Given the description of an element on the screen output the (x, y) to click on. 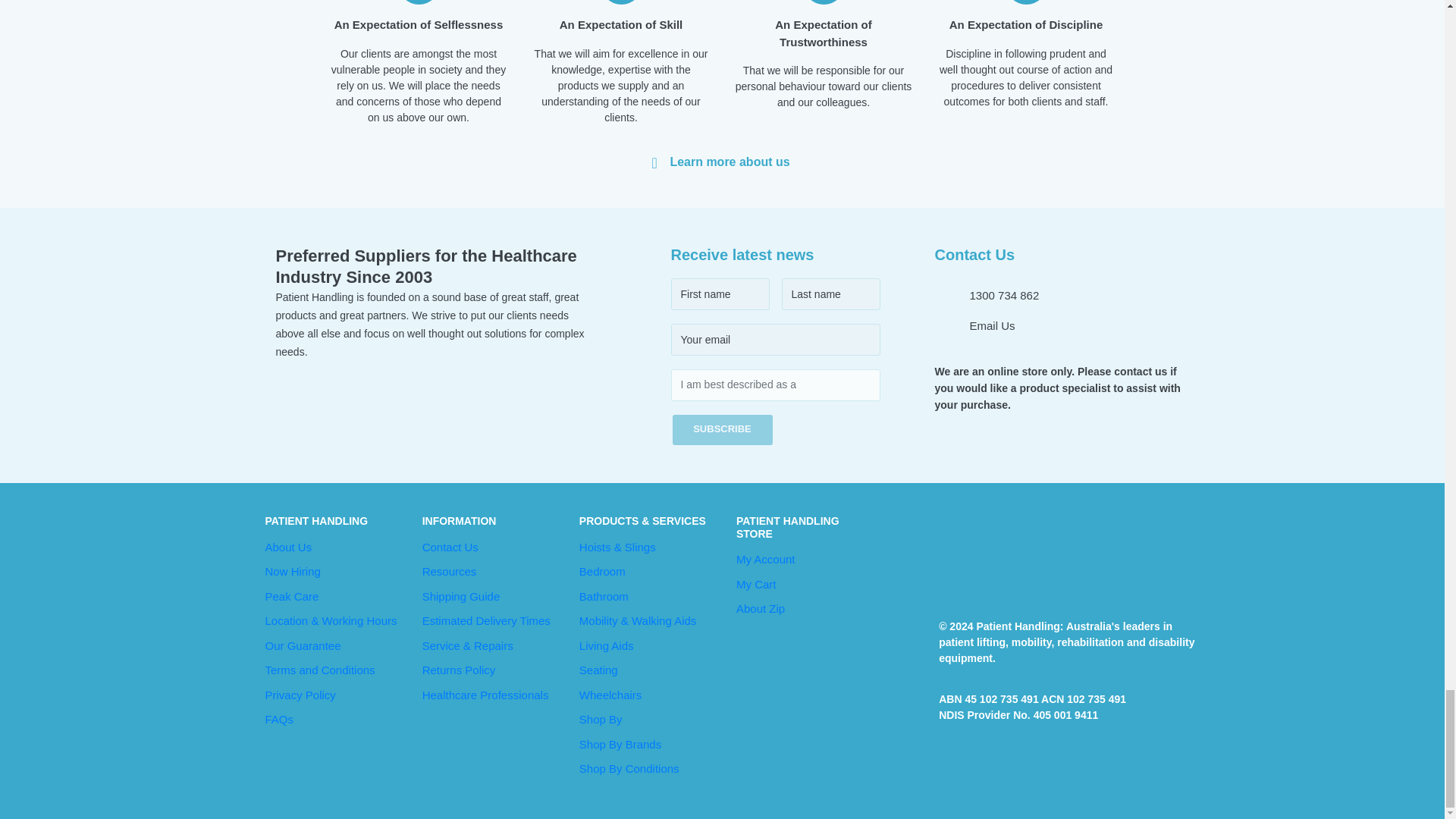
SUBSCRIBE (721, 429)
